Given the description of an element on the screen output the (x, y) to click on. 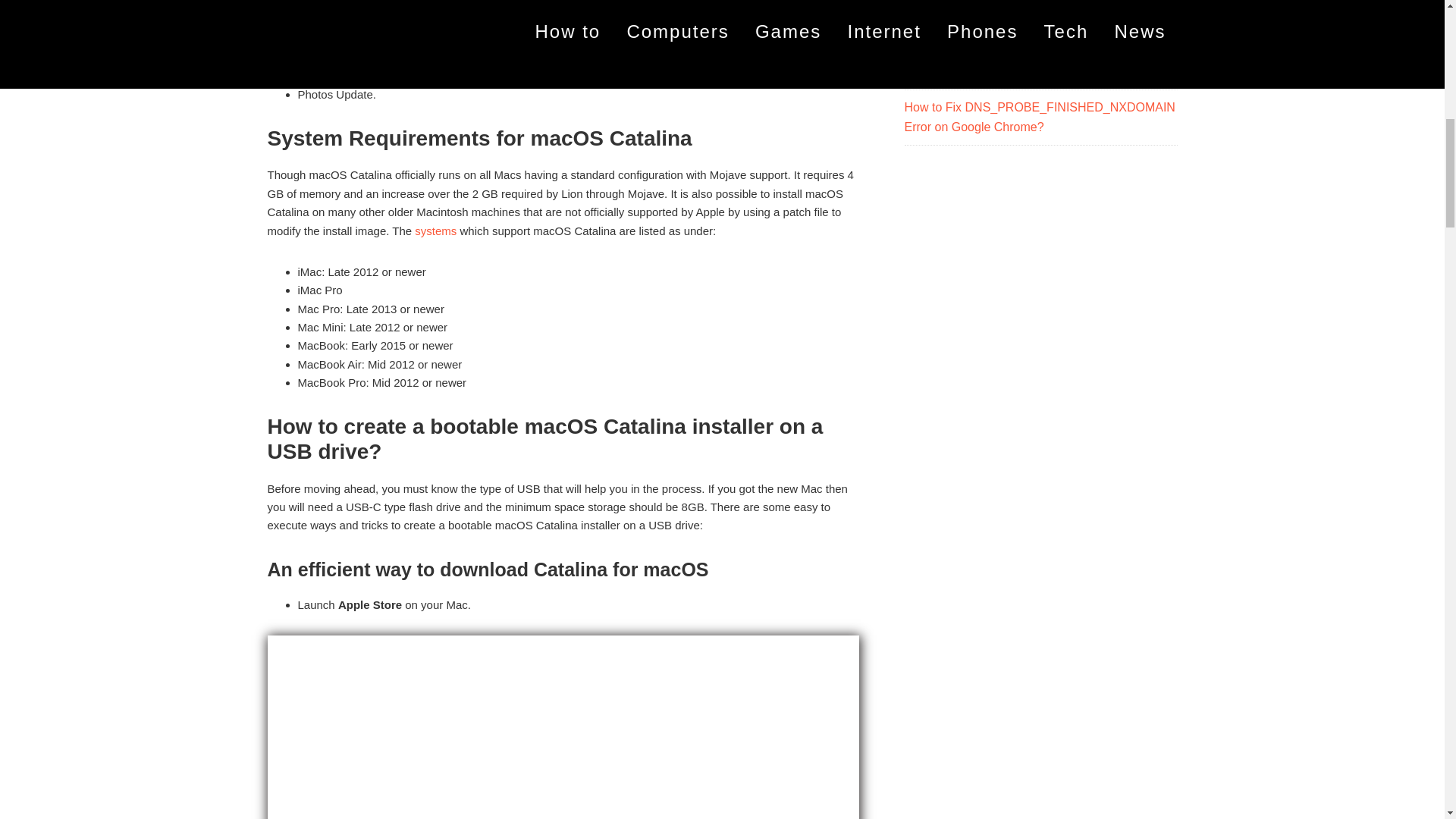
How to Create a Bootable USB for macOS Catalina? (562, 727)
systems (435, 230)
